Given the description of an element on the screen output the (x, y) to click on. 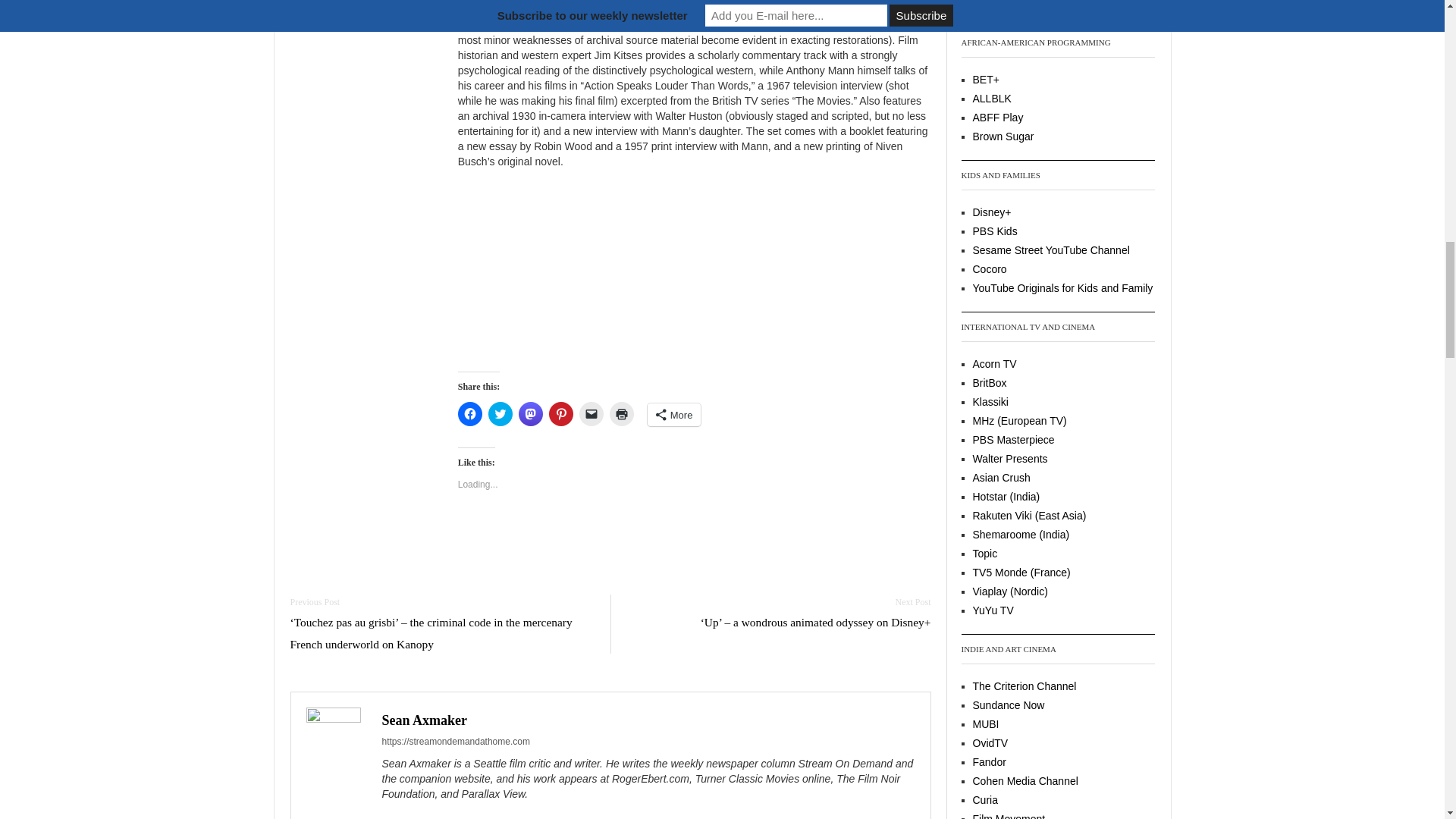
Click to email a link to a friend (591, 413)
Click to share on Mastodon (530, 413)
Click to share on Facebook (469, 413)
Click to share on Pinterest (560, 413)
Click to print (621, 413)
Click to share on Twitter (499, 413)
